Given the description of an element on the screen output the (x, y) to click on. 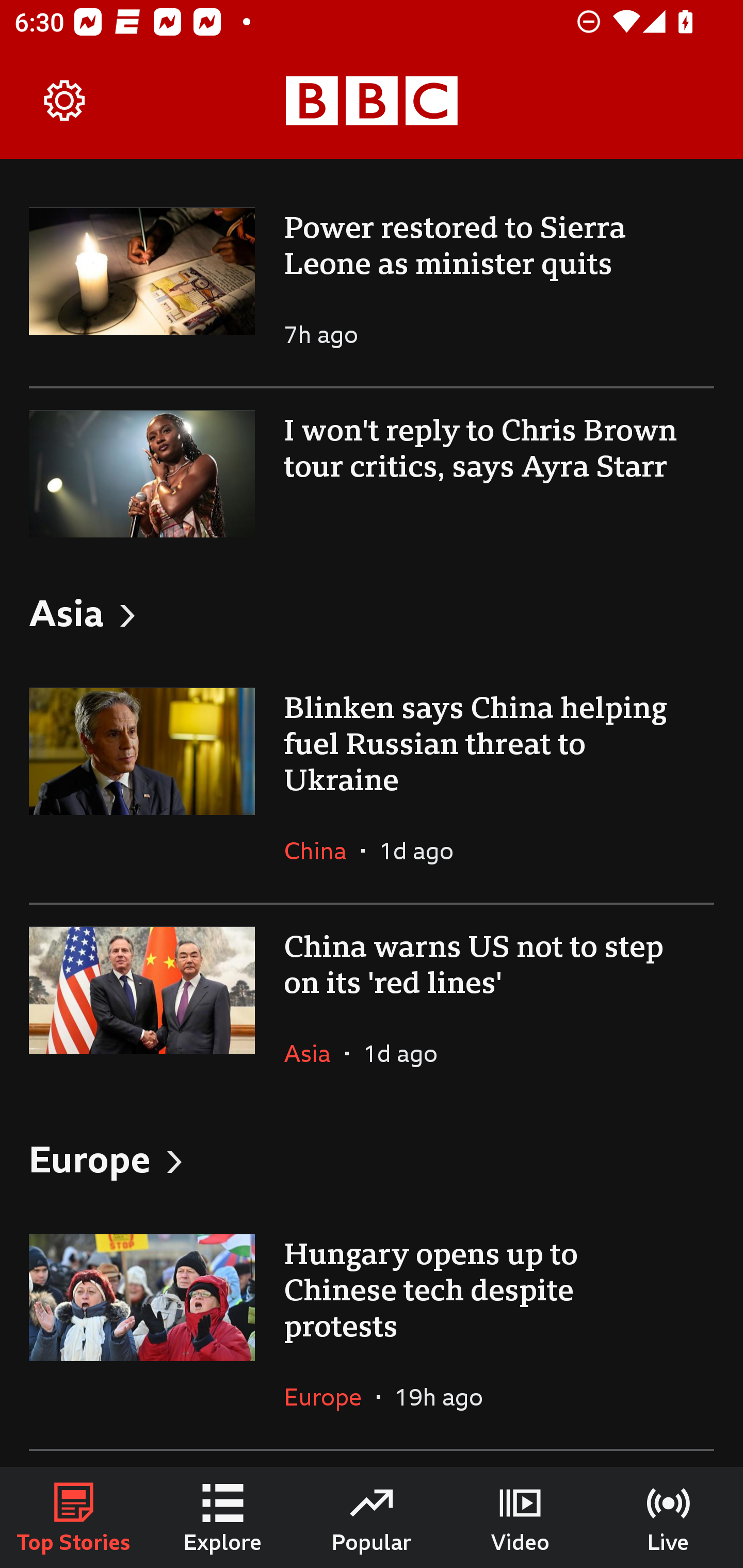
Settings (64, 100)
Asia, Heading Asia    (371, 612)
China In the section China (322, 850)
Asia In the section Asia (314, 1052)
Europe, Heading Europe    (371, 1158)
Europe In the section Europe (329, 1396)
Explore (222, 1517)
Popular (371, 1517)
Video (519, 1517)
Live (668, 1517)
